Given the description of an element on the screen output the (x, y) to click on. 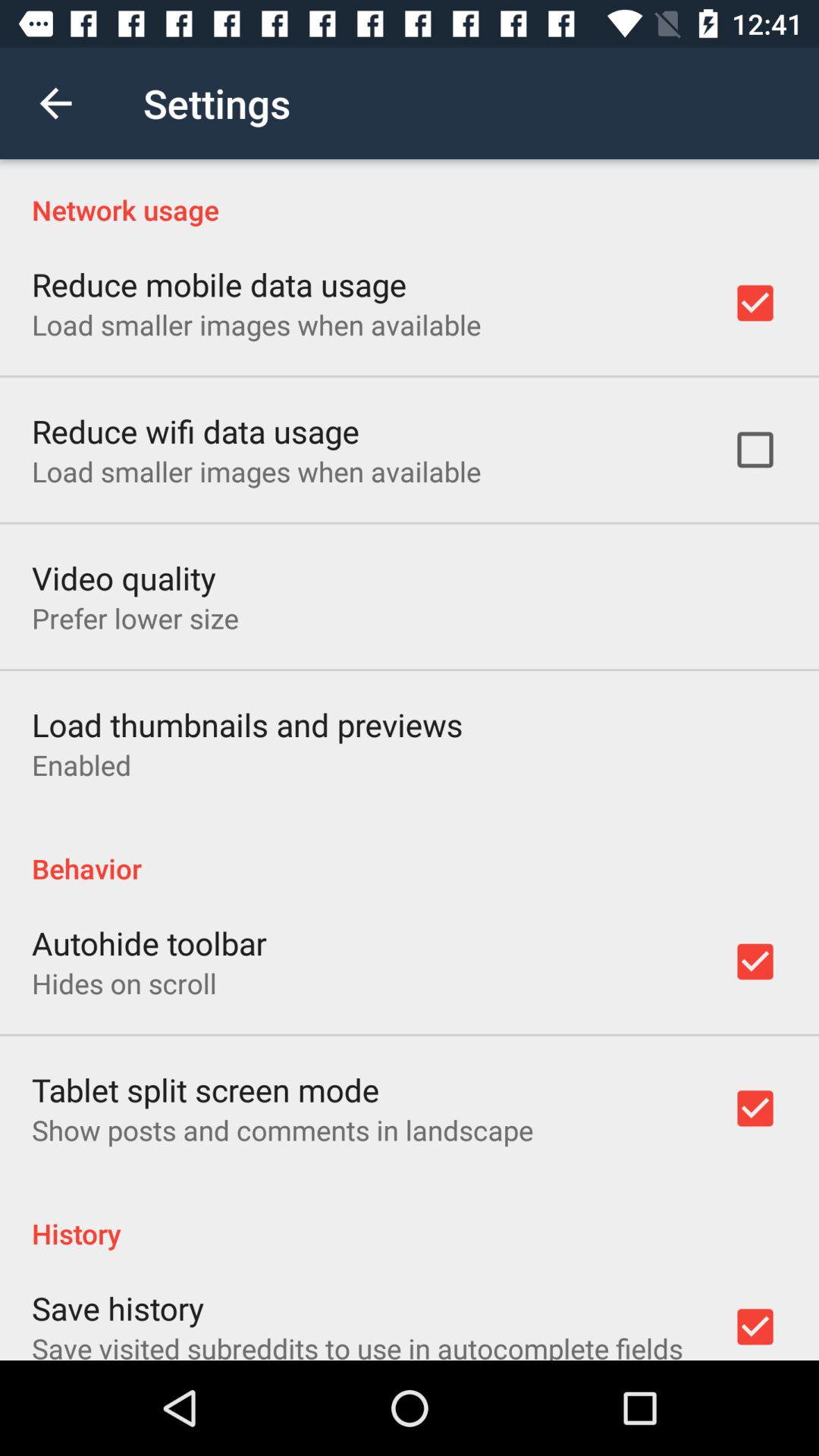
open the network usage (409, 193)
